Given the description of an element on the screen output the (x, y) to click on. 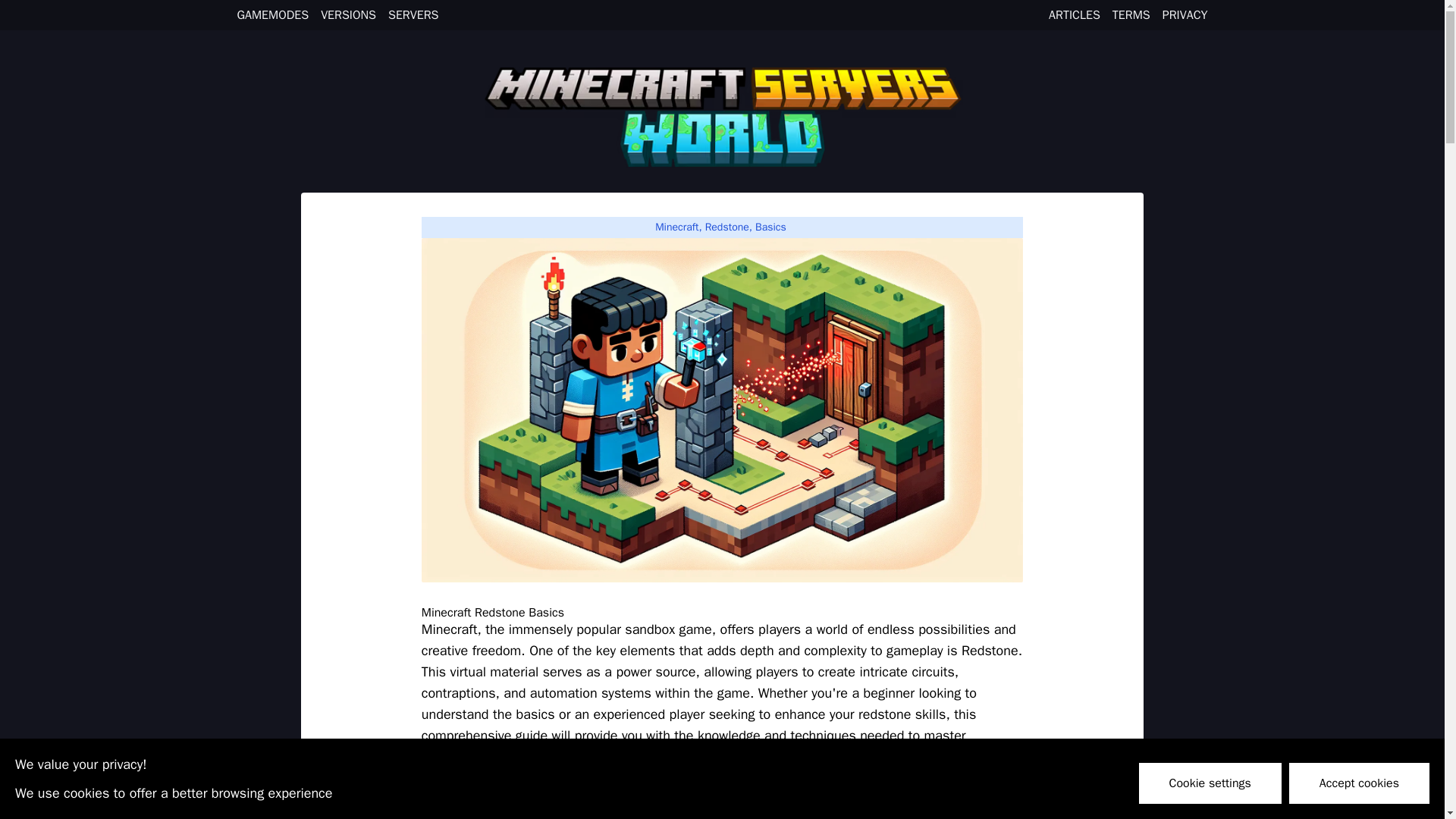
VERSIONS (347, 14)
Cookie settings (1209, 782)
ARTICLES (1074, 14)
Accept cookies (1358, 782)
SERVERS (413, 14)
TERMS (1131, 14)
GAMEMODES (271, 14)
PRIVACY (1184, 14)
